Given the description of an element on the screen output the (x, y) to click on. 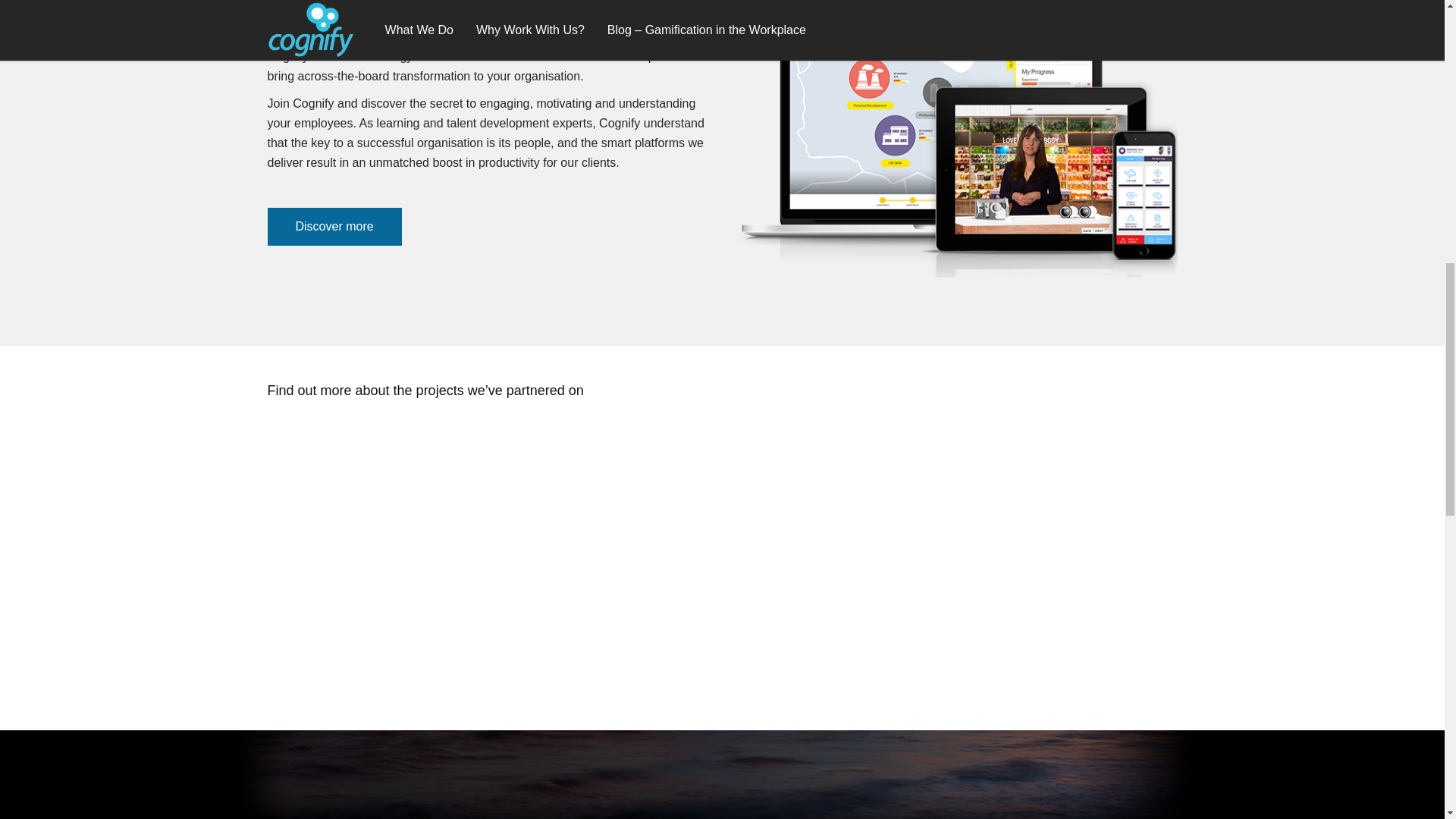
Discover more (333, 226)
How to motivate employees (956, 142)
